Given the description of an element on the screen output the (x, y) to click on. 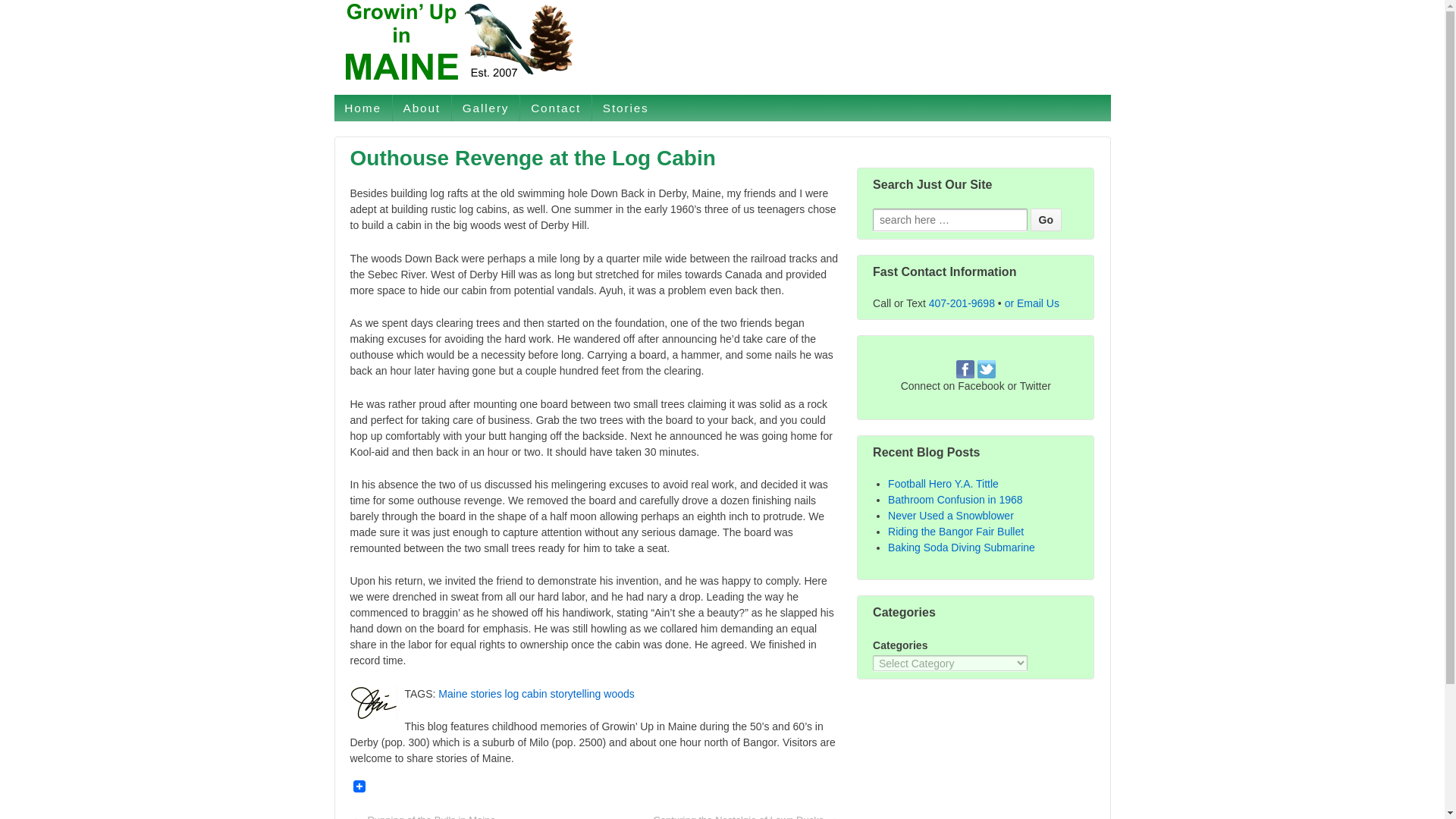
Go (1045, 219)
or Email Us (1031, 303)
stories (485, 693)
407-201-9698 (961, 303)
storytelling (574, 693)
State of Maine Photo Gallery (485, 108)
Never Used a Snowblower (950, 515)
About the Author Jim Degerstrom (421, 108)
woods (618, 693)
About (421, 108)
Bathroom Confusion in 1968 (955, 499)
Go (1045, 219)
Capturing the Nostalgia of Lawn Ducks (738, 815)
Like Our Facebook Page (965, 369)
Contact Form (555, 108)
